Given the description of an element on the screen output the (x, y) to click on. 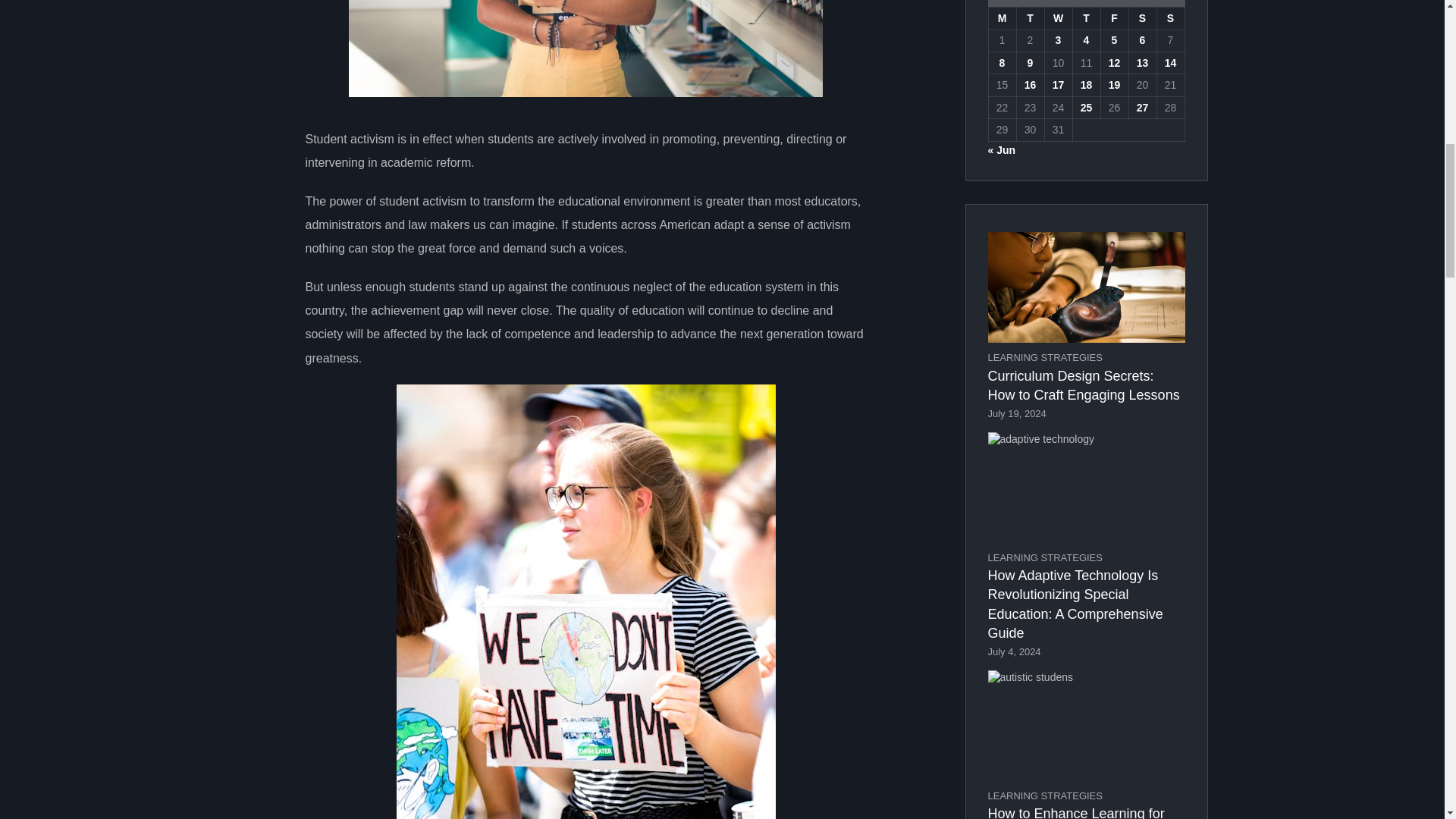
Monday (1002, 17)
Tuesday (1029, 17)
Saturday (1142, 17)
Thursday (1085, 17)
Friday (1114, 17)
Sunday (1170, 17)
Wednesday (1057, 17)
